Given the description of an element on the screen output the (x, y) to click on. 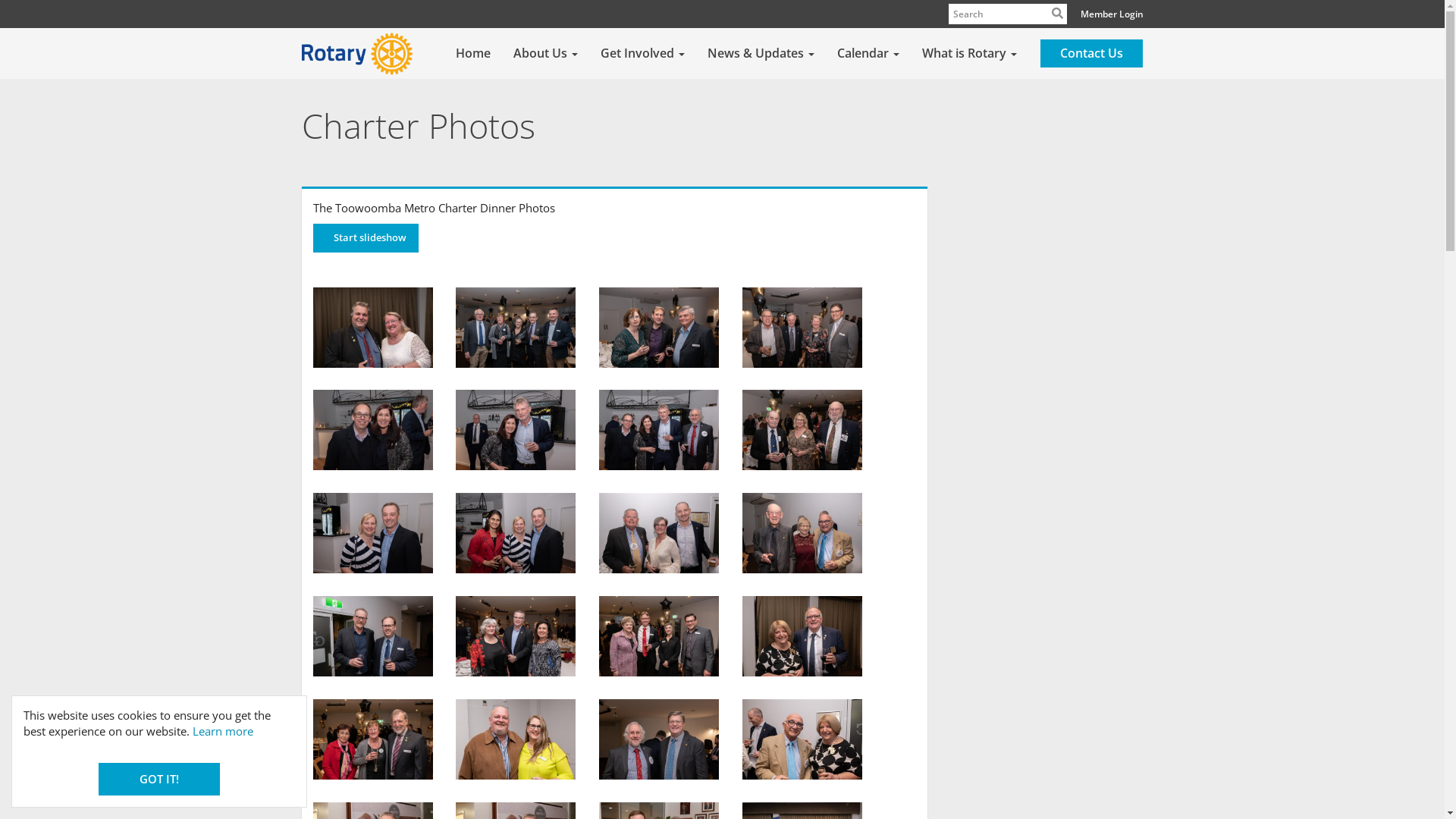
About Us Element type: text (545, 53)
Get Involved Element type: text (641, 53)
What is Rotary Element type: text (968, 53)
News & Updates Element type: text (760, 53)
Home Element type: text (473, 53)
Calendar Element type: text (867, 53)
Contact Us Element type: text (1091, 52)
GOT IT! Element type: text (158, 778)
Learn more Element type: text (222, 730)
Member Login Element type: text (1110, 13)
